Given the description of an element on the screen output the (x, y) to click on. 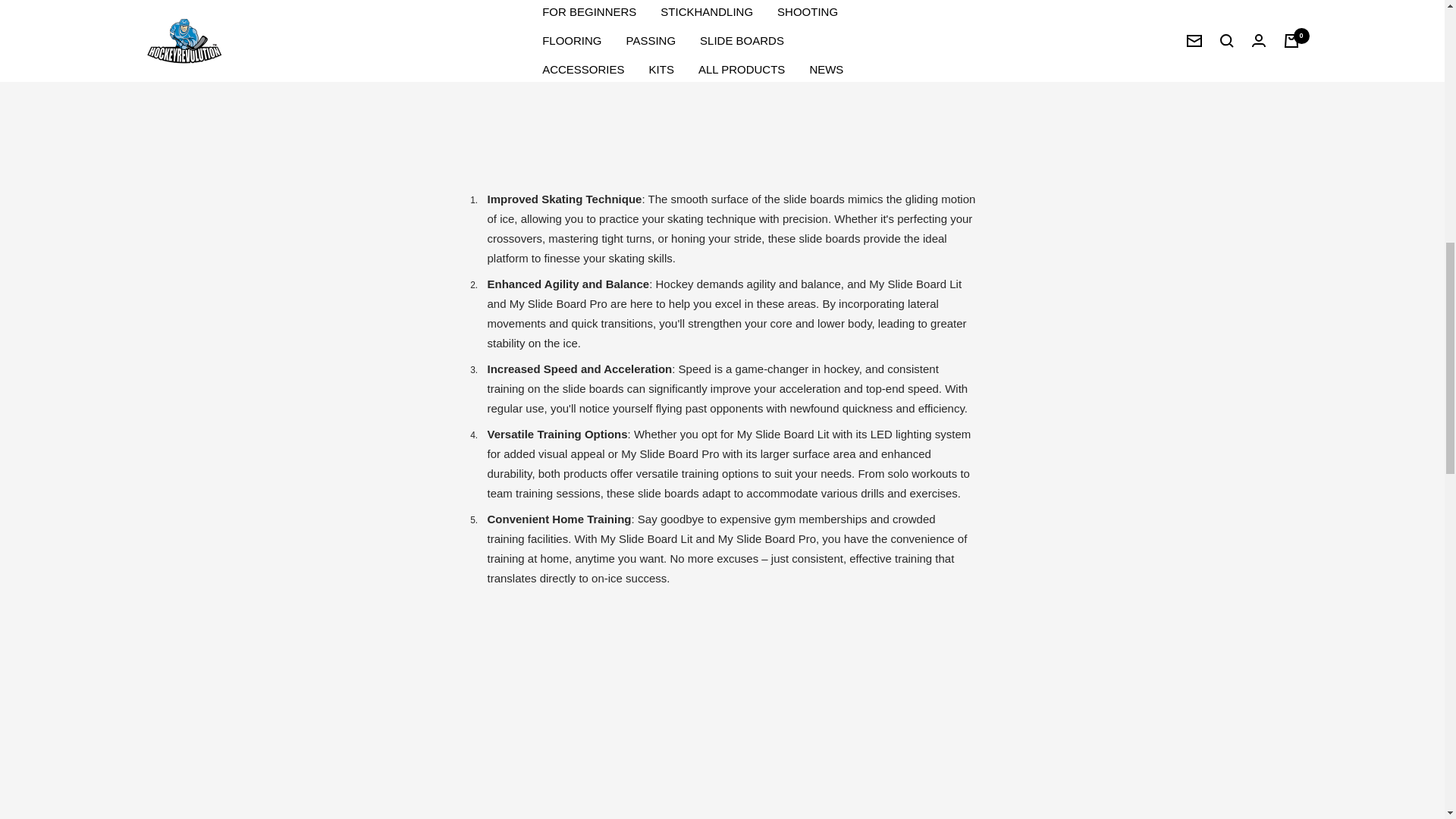
YouTube video player (680, 710)
YouTube video player (680, 84)
